Given the description of an element on the screen output the (x, y) to click on. 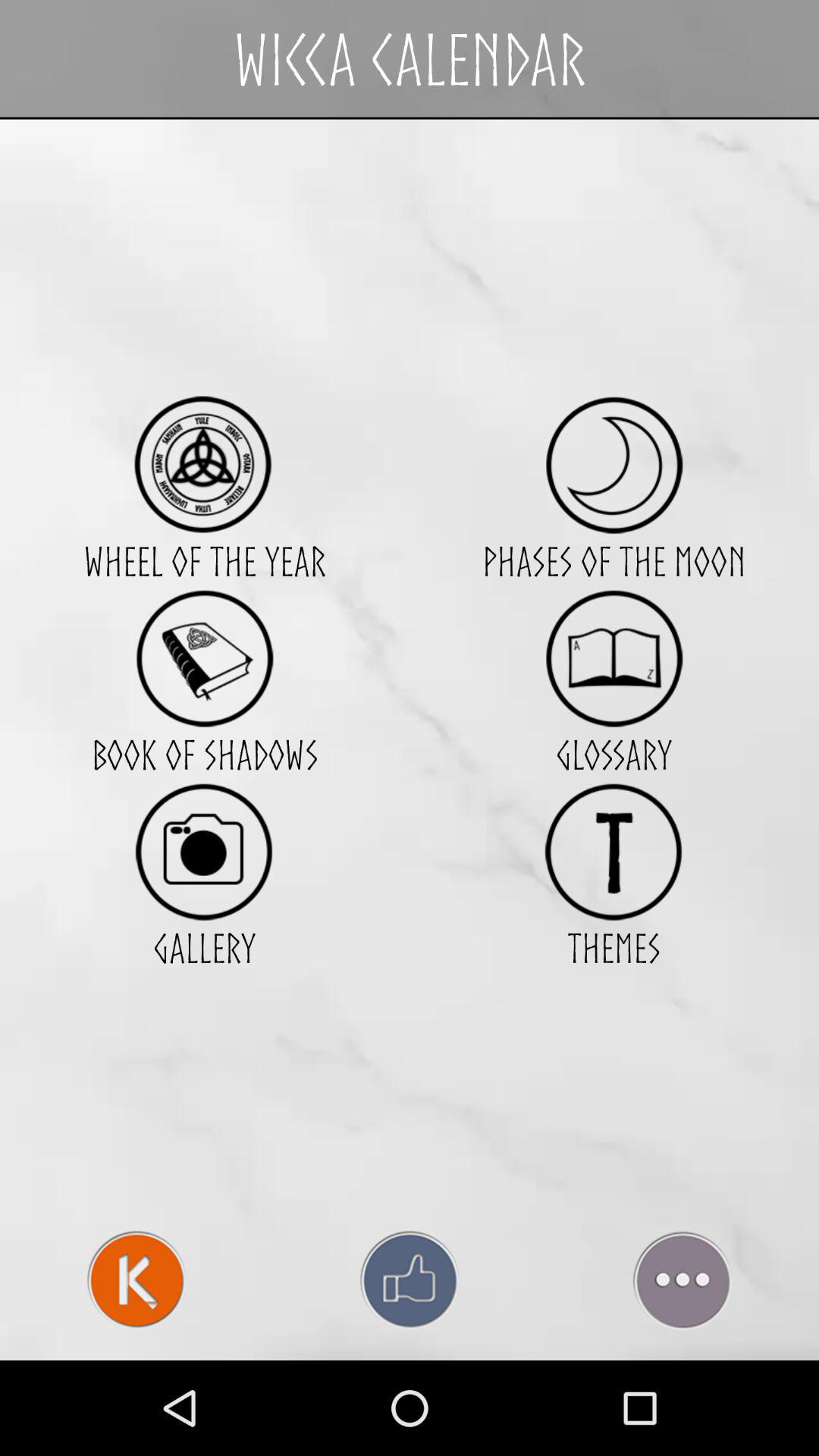
more options (682, 1280)
